Given the description of an element on the screen output the (x, y) to click on. 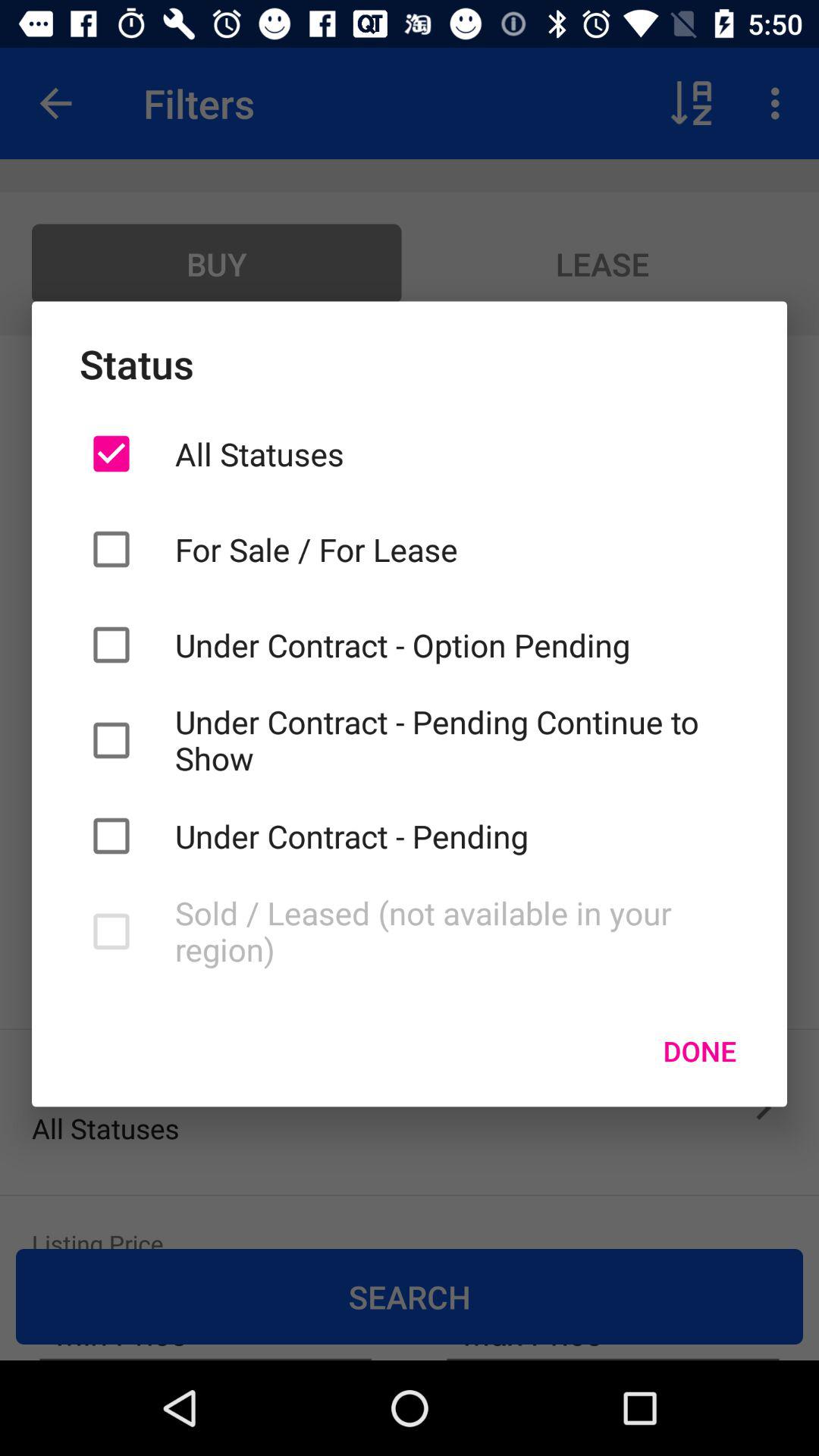
turn off done at the bottom right corner (699, 1050)
